Given the description of an element on the screen output the (x, y) to click on. 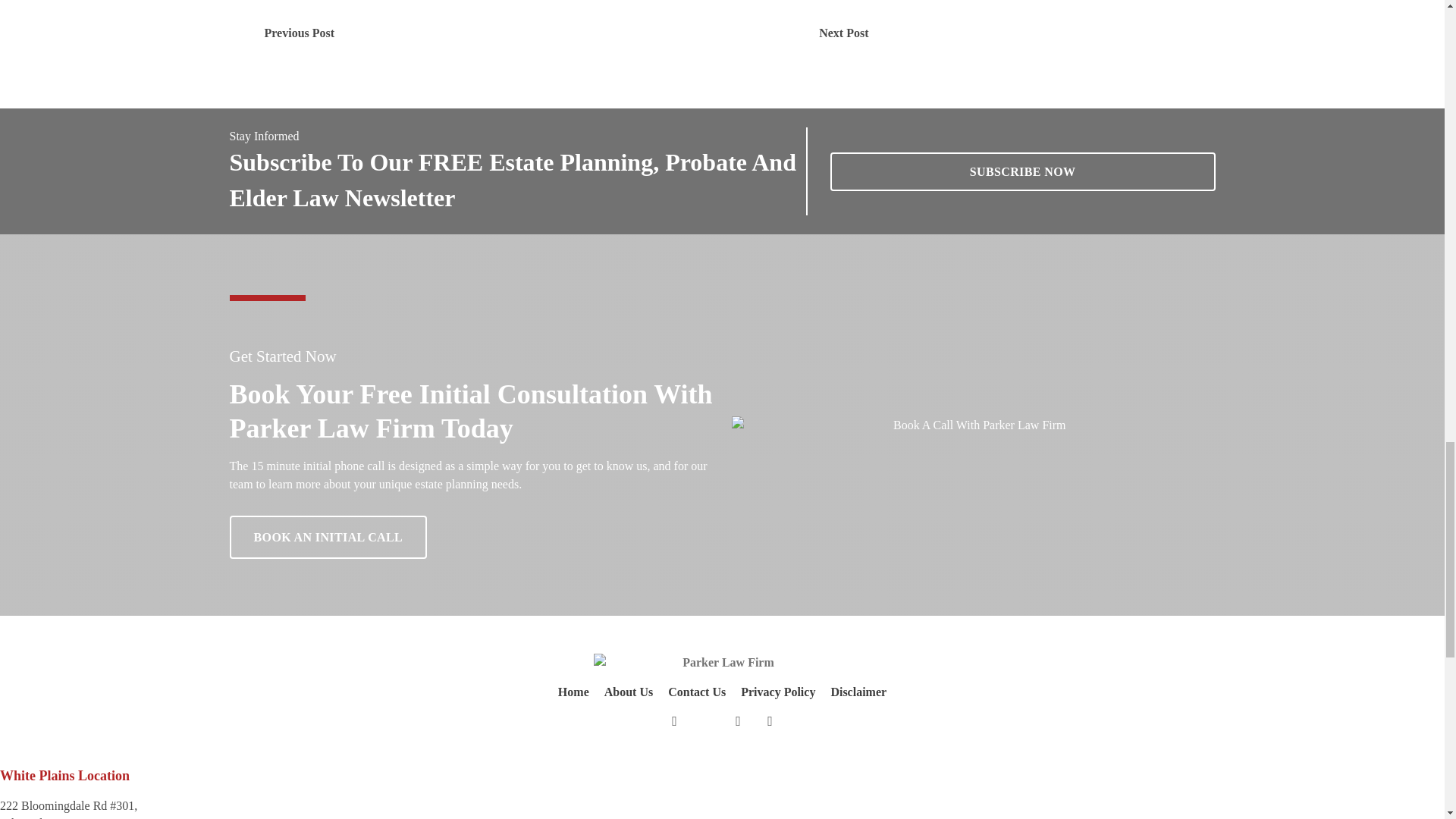
Book An Initial Call (327, 536)
Parker Law Firm (721, 661)
Book A Call With Parker Law Firm (973, 425)
Book an Initial Call (1022, 171)
